Given the description of an element on the screen output the (x, y) to click on. 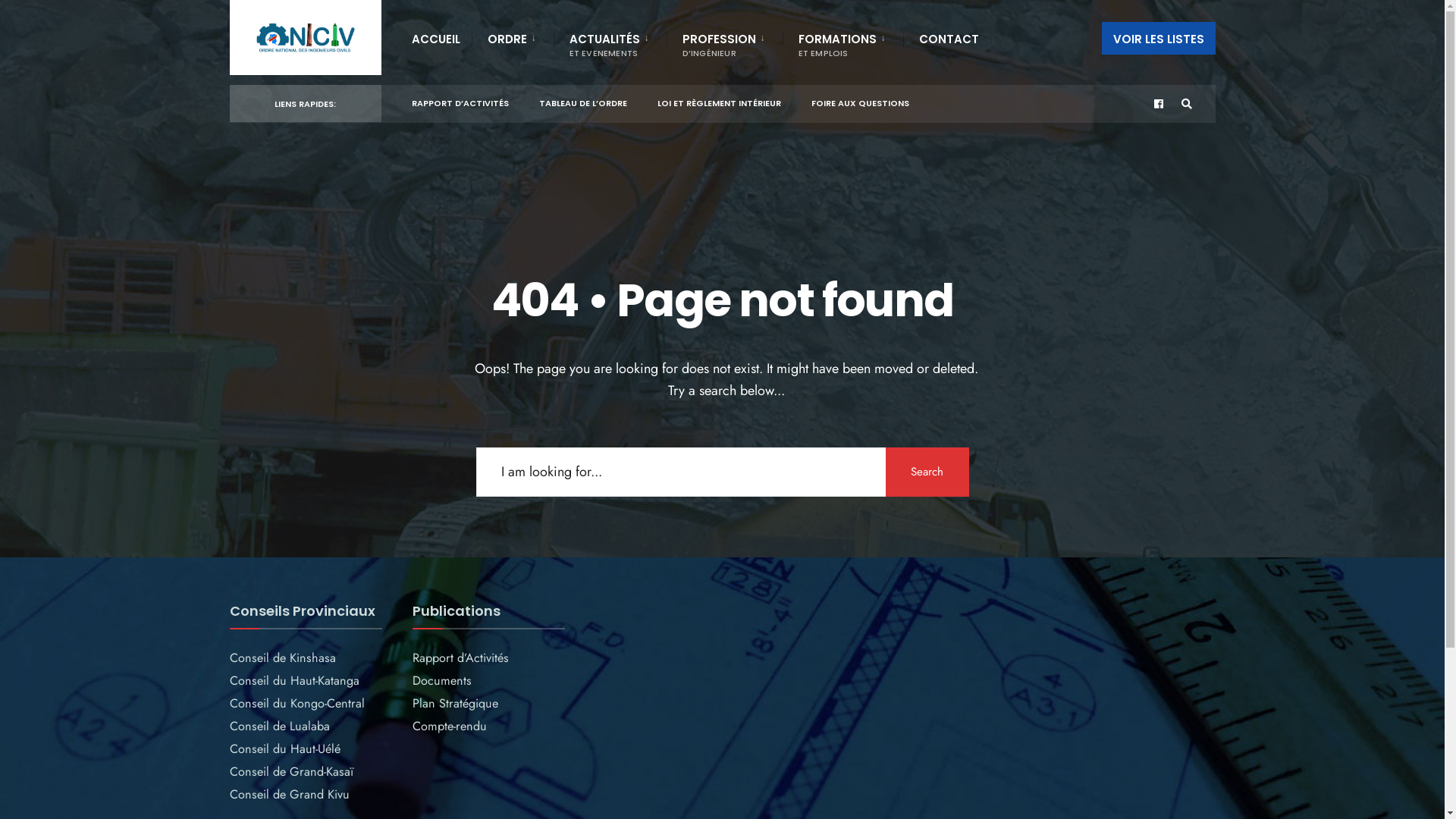
Conseil de Kinshasa Element type: text (282, 657)
ACCUEIL Element type: text (435, 37)
Skip to content Element type: text (236, 3)
ORDRE Element type: text (513, 37)
FOIRE AUX QUESTIONS Element type: text (860, 99)
VOIR LES LISTES Element type: text (1157, 37)
Documents Element type: text (441, 680)
Conseil du Kongo-Central Element type: text (296, 703)
Conseil du Haut-Katanga Element type: text (293, 680)
Conseil de Lualaba Element type: text (279, 725)
Conseil de Grand Kivu Element type: text (288, 794)
CONTACT Element type: text (949, 37)
Search Element type: text (927, 471)
Compte-rendu Element type: text (449, 725)
FORMATIONS
ET EMPLOIS Element type: text (844, 43)
